Given the description of an element on the screen output the (x, y) to click on. 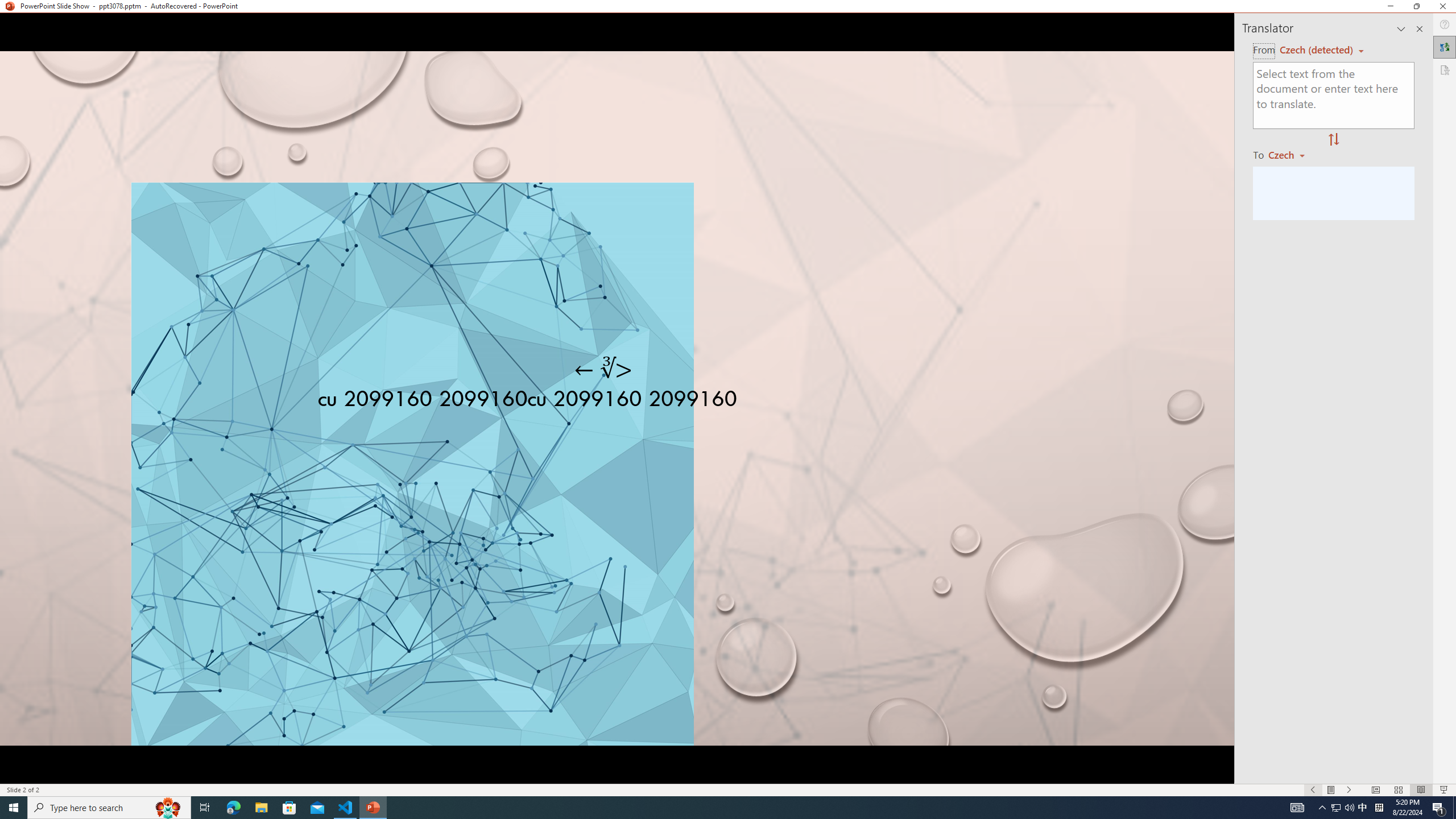
Swap "from" and "to" languages. (1333, 140)
Slide Show Previous On (1313, 790)
Slide Show Next On (1349, 790)
Czech (1291, 154)
Translator (1444, 47)
Menu On (1331, 790)
